Given the description of an element on the screen output the (x, y) to click on. 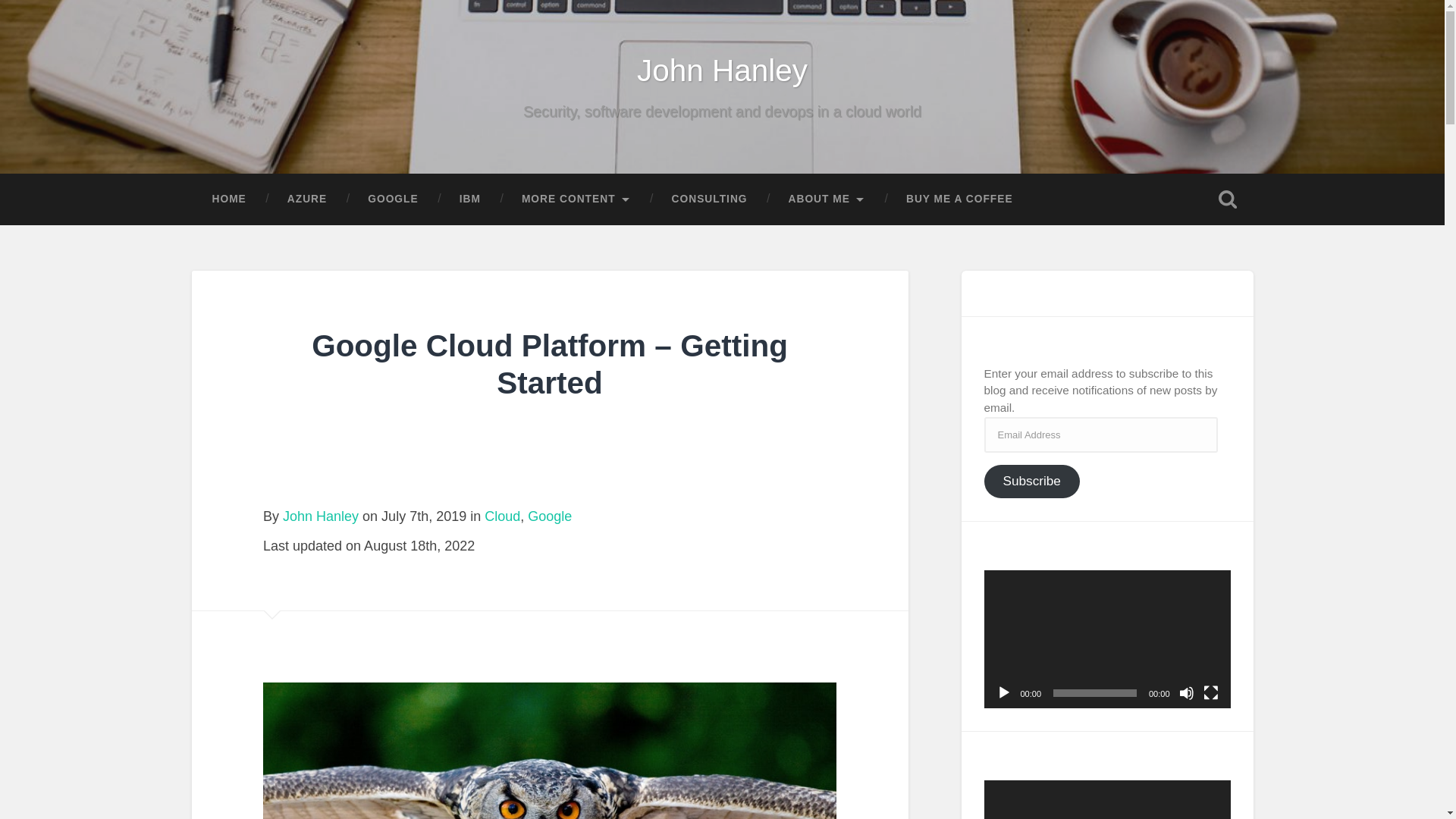
AZURE (306, 199)
BUY ME A COFFEE (959, 199)
GOOGLE (392, 199)
IBM (469, 199)
Fullscreen (1209, 693)
CONSULTING (709, 199)
Posts by John Hanley (320, 516)
John Hanley (722, 70)
ABOUT ME (826, 199)
HOME (228, 199)
Mute (1185, 693)
Play (1003, 693)
MORE CONTENT (575, 199)
